Given the description of an element on the screen output the (x, y) to click on. 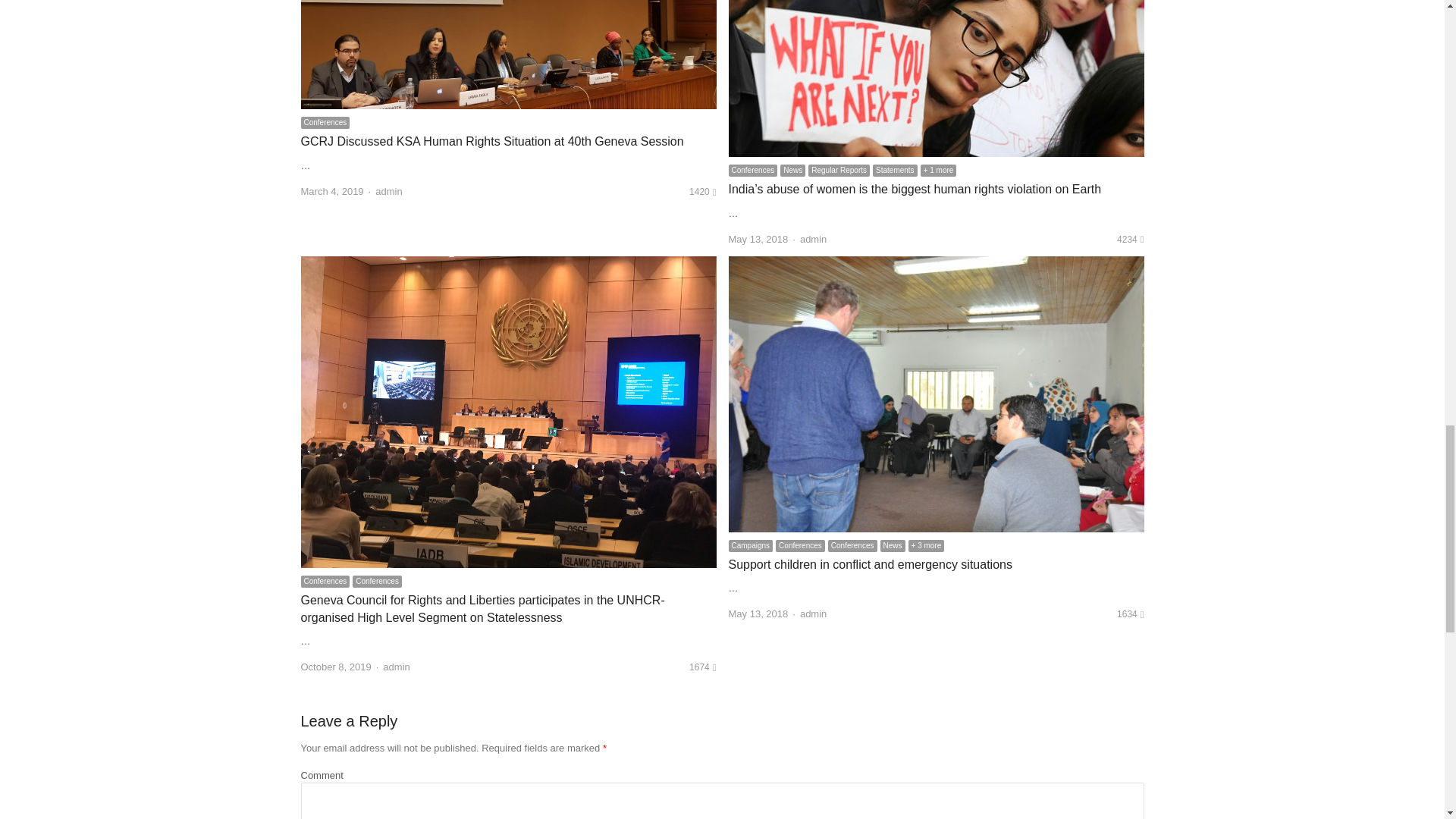
Conferences (324, 122)
admin (388, 191)
Support children in conflict and emergency situations (869, 563)
News (792, 170)
Conferences (752, 170)
Support children in conflict and emergency situations (935, 265)
Regular Reports (838, 170)
